Given the description of an element on the screen output the (x, y) to click on. 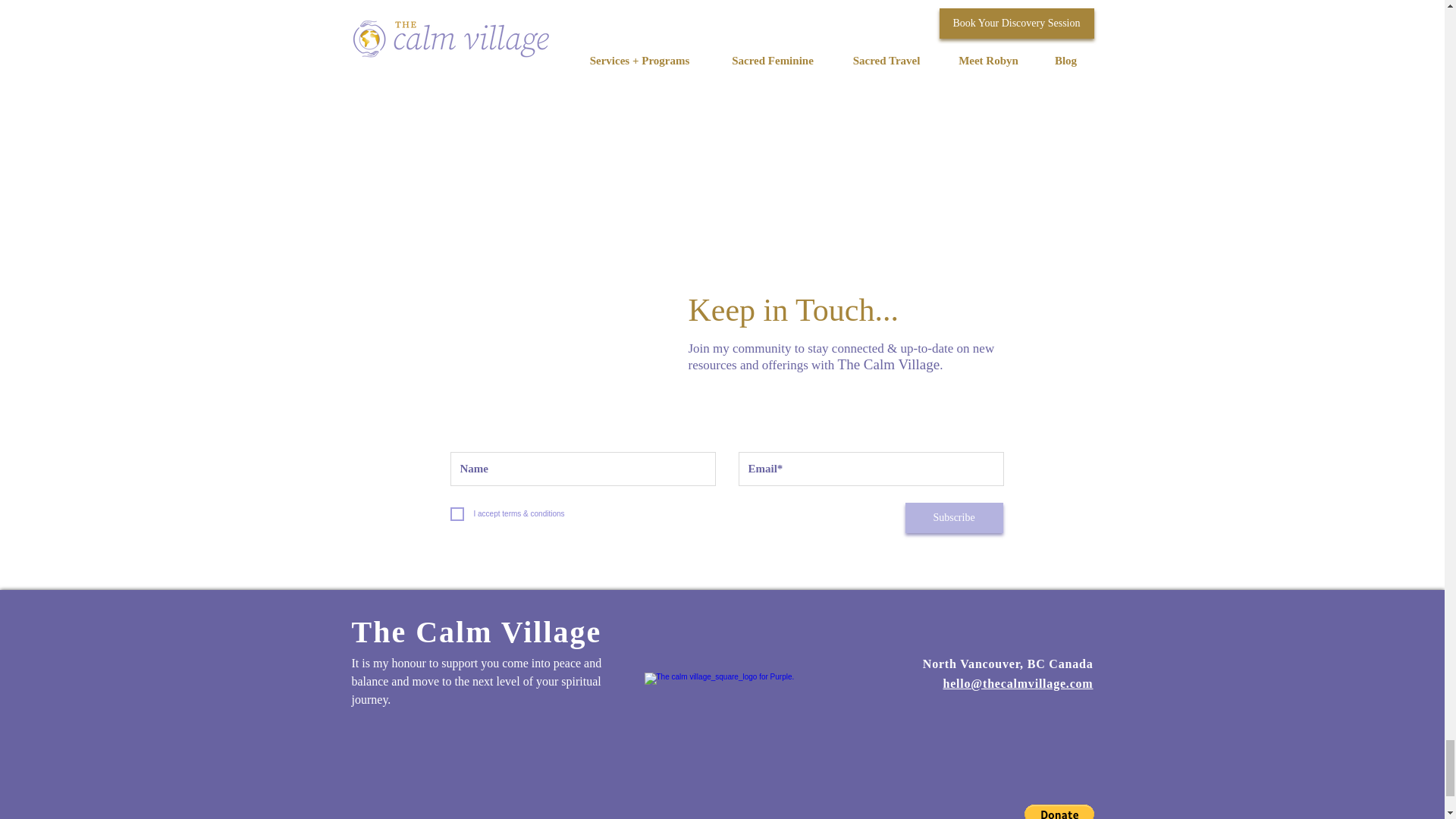
Subscribe (954, 517)
